Given the description of an element on the screen output the (x, y) to click on. 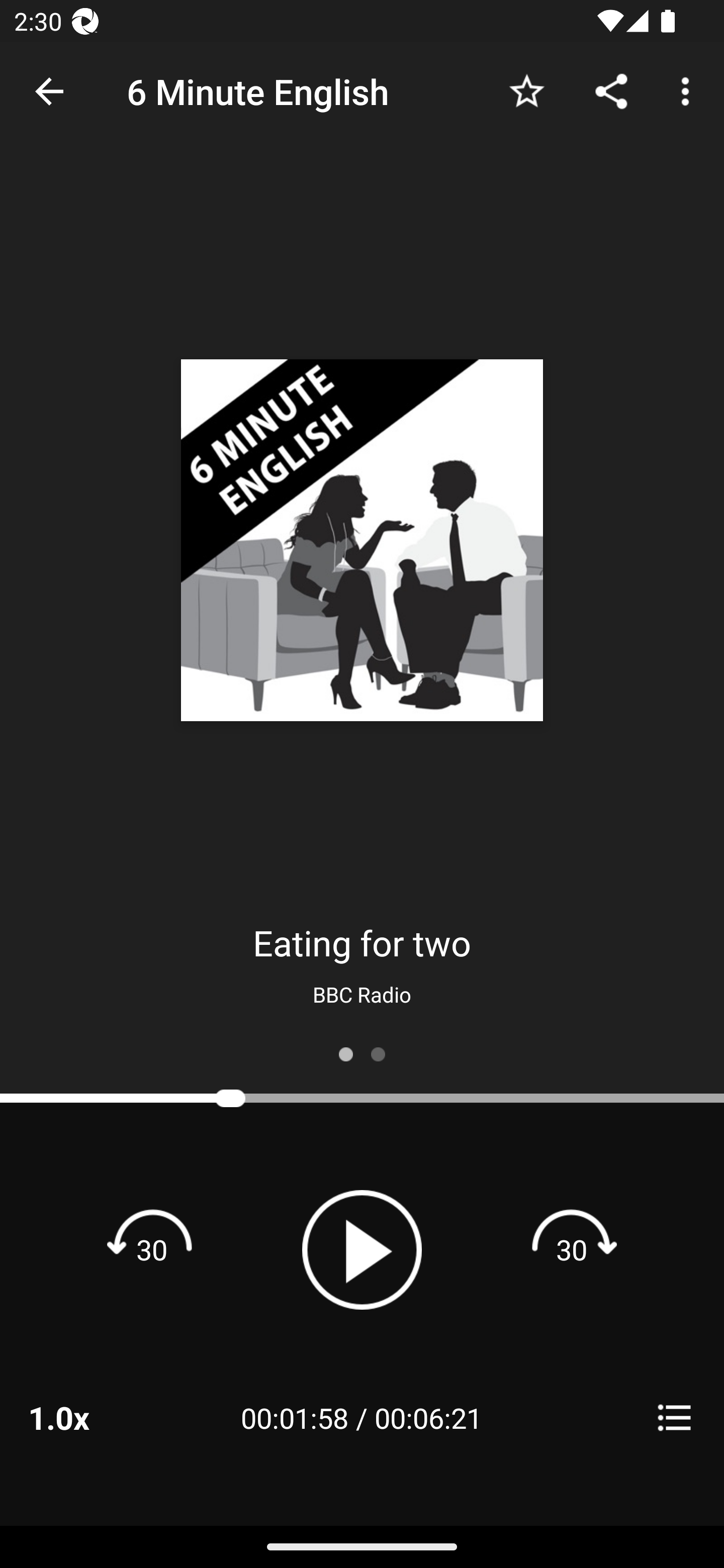
Navigate up (49, 91)
Add to Favorites (526, 90)
Share... (611, 90)
More options (688, 90)
BBC Radio (361, 994)
Play (361, 1249)
Rewind (151, 1249)
Fast forward (571, 1249)
1.0x Playback Speeds (84, 1417)
00:06:21 (428, 1417)
